Given the description of an element on the screen output the (x, y) to click on. 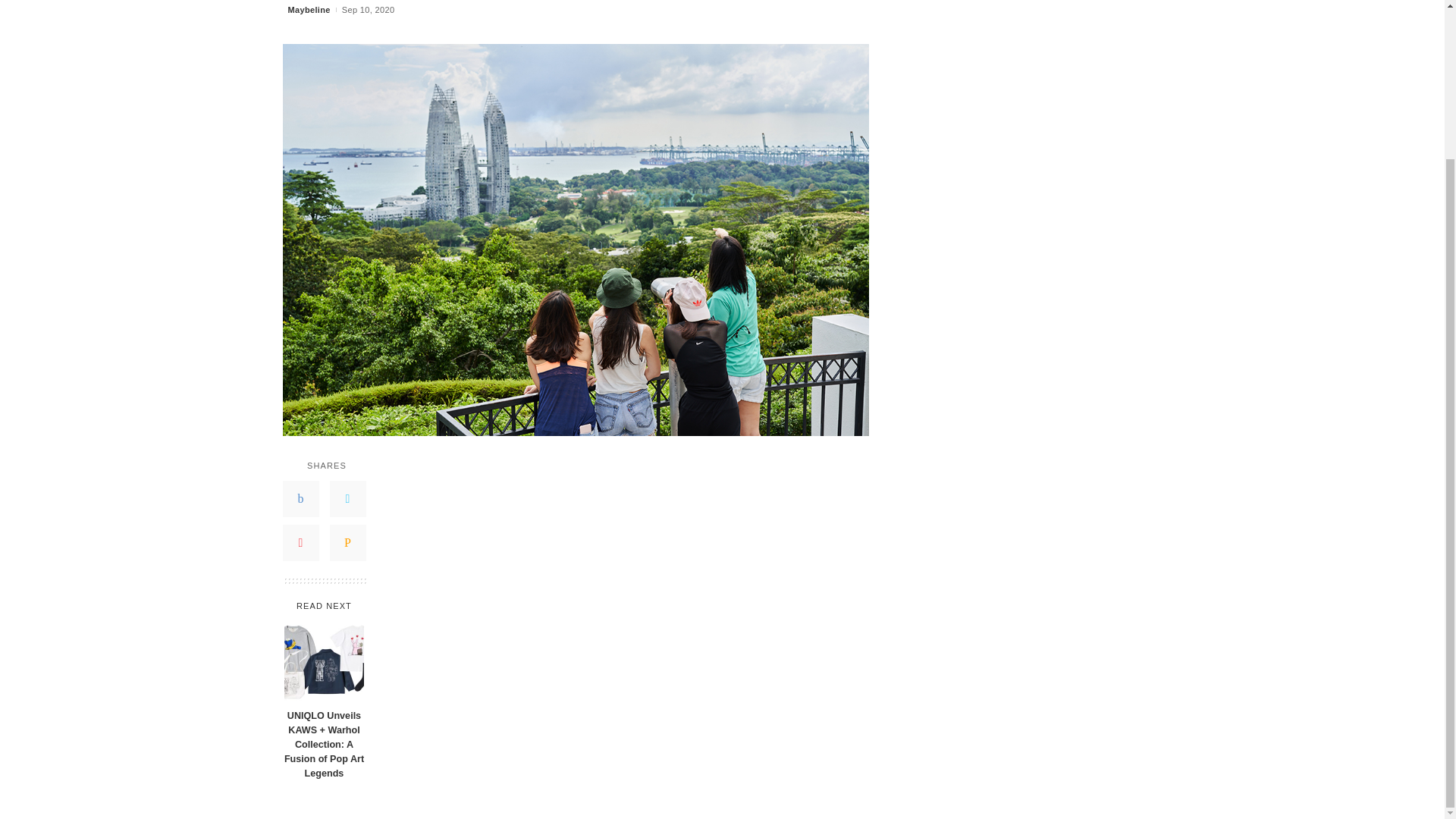
Email (347, 542)
Twitter (347, 498)
Pinterest (300, 542)
Facebook (300, 498)
